Given the description of an element on the screen output the (x, y) to click on. 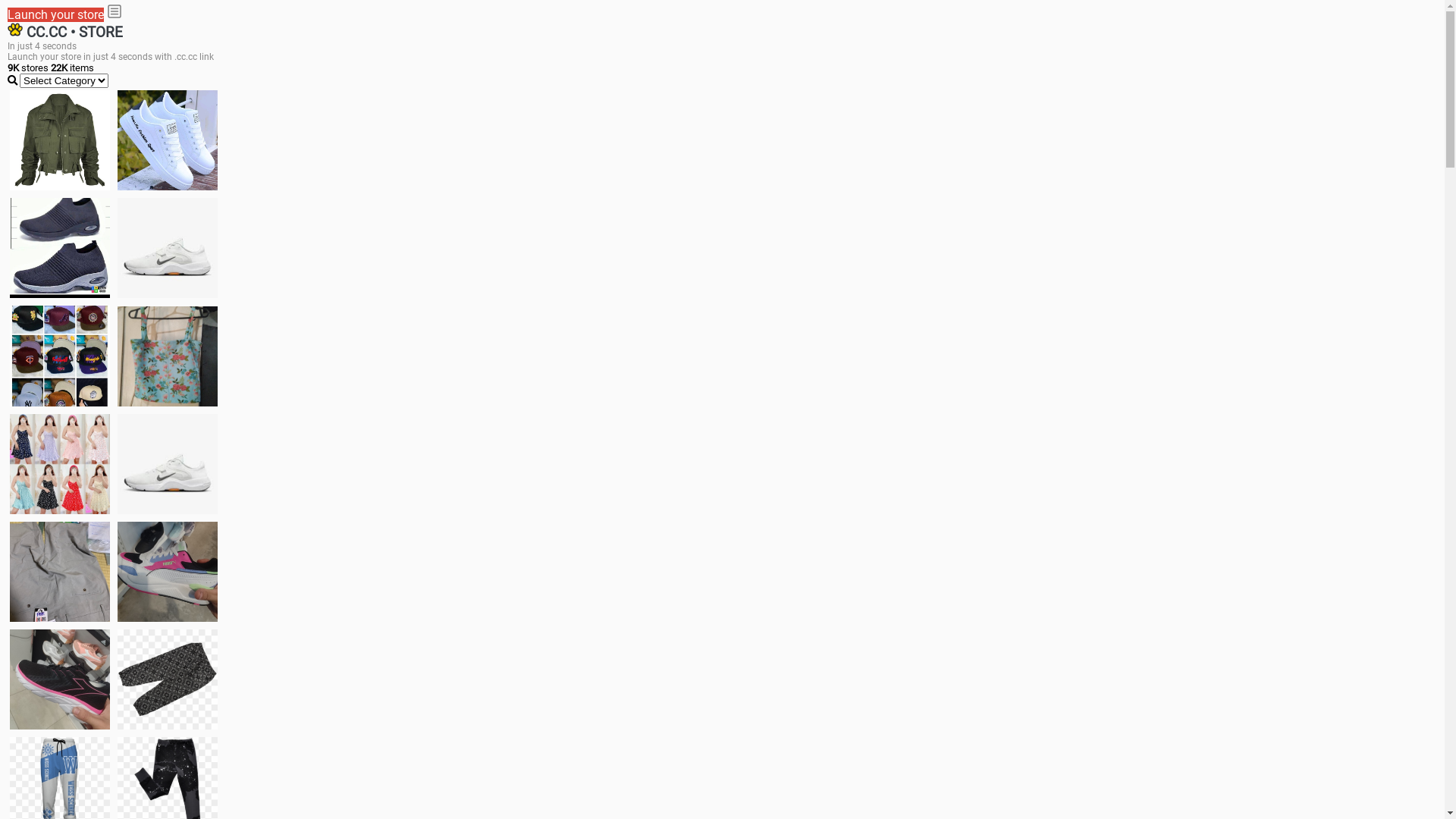
Ukay cloth Element type: hover (167, 356)
Launch your store Element type: text (55, 14)
Short pant Element type: hover (167, 679)
shoes for boys Element type: hover (59, 247)
jacket Element type: hover (59, 140)
Things we need Element type: hover (59, 355)
white shoes Element type: hover (167, 140)
Shoes for boys Element type: hover (167, 247)
Zapatillas Element type: hover (59, 679)
Dress/square nect top Element type: hover (59, 464)
Shoes Element type: hover (167, 464)
Zapatillas pumas Element type: hover (167, 571)
